Given the description of an element on the screen output the (x, y) to click on. 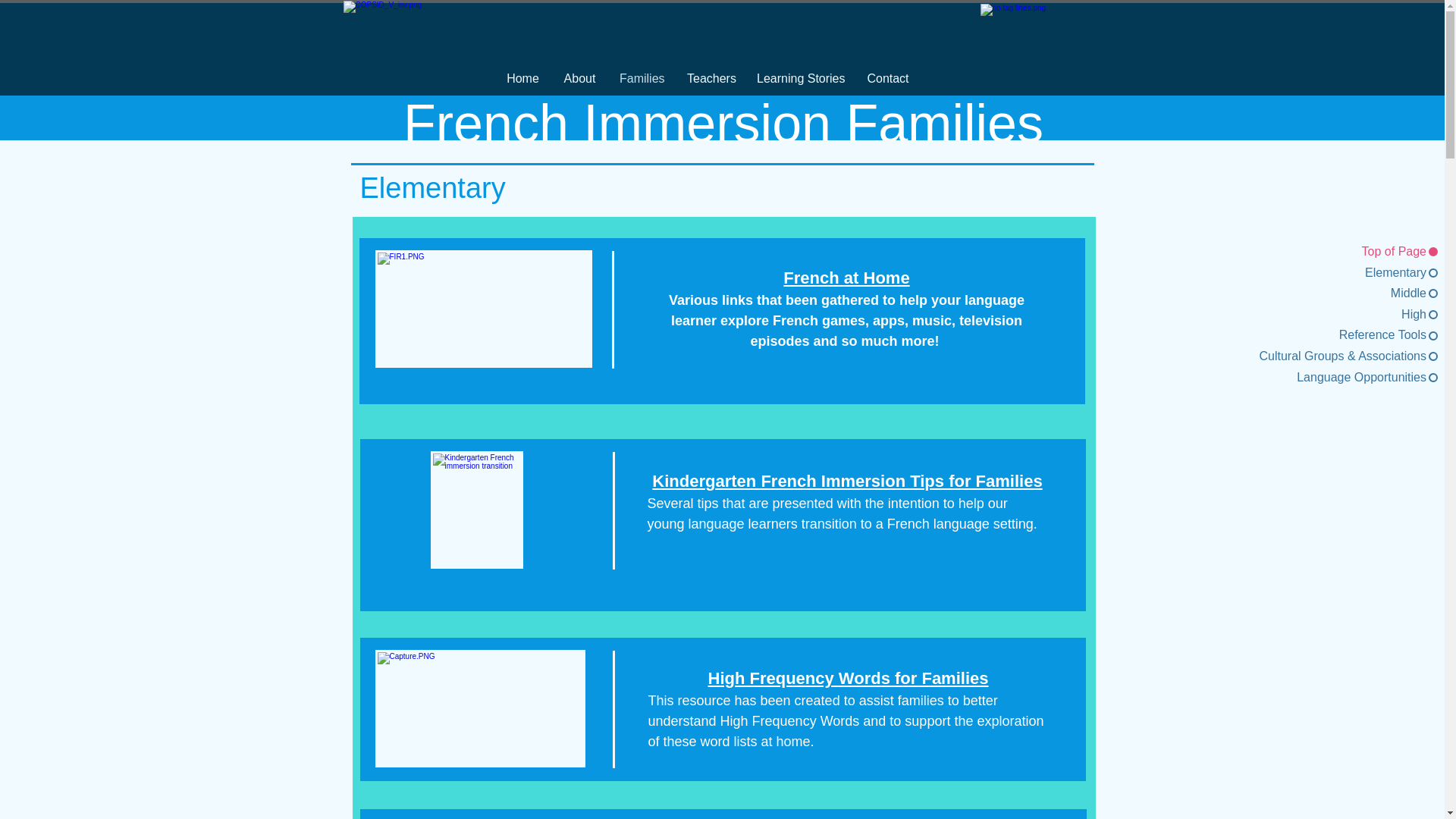
About (579, 78)
Teachers (710, 78)
Reference Tools (1326, 334)
French at Home (845, 277)
Top of Page (1326, 251)
Learning Stories (800, 78)
High (1326, 314)
Elementary (1326, 272)
Middle (1326, 293)
Contact (888, 78)
Kindergarten French Immersion Tips for Families (847, 480)
High Frequency Words for Families (847, 678)
Language Opportunities (1326, 377)
Families (641, 78)
Home (523, 78)
